Given the description of an element on the screen output the (x, y) to click on. 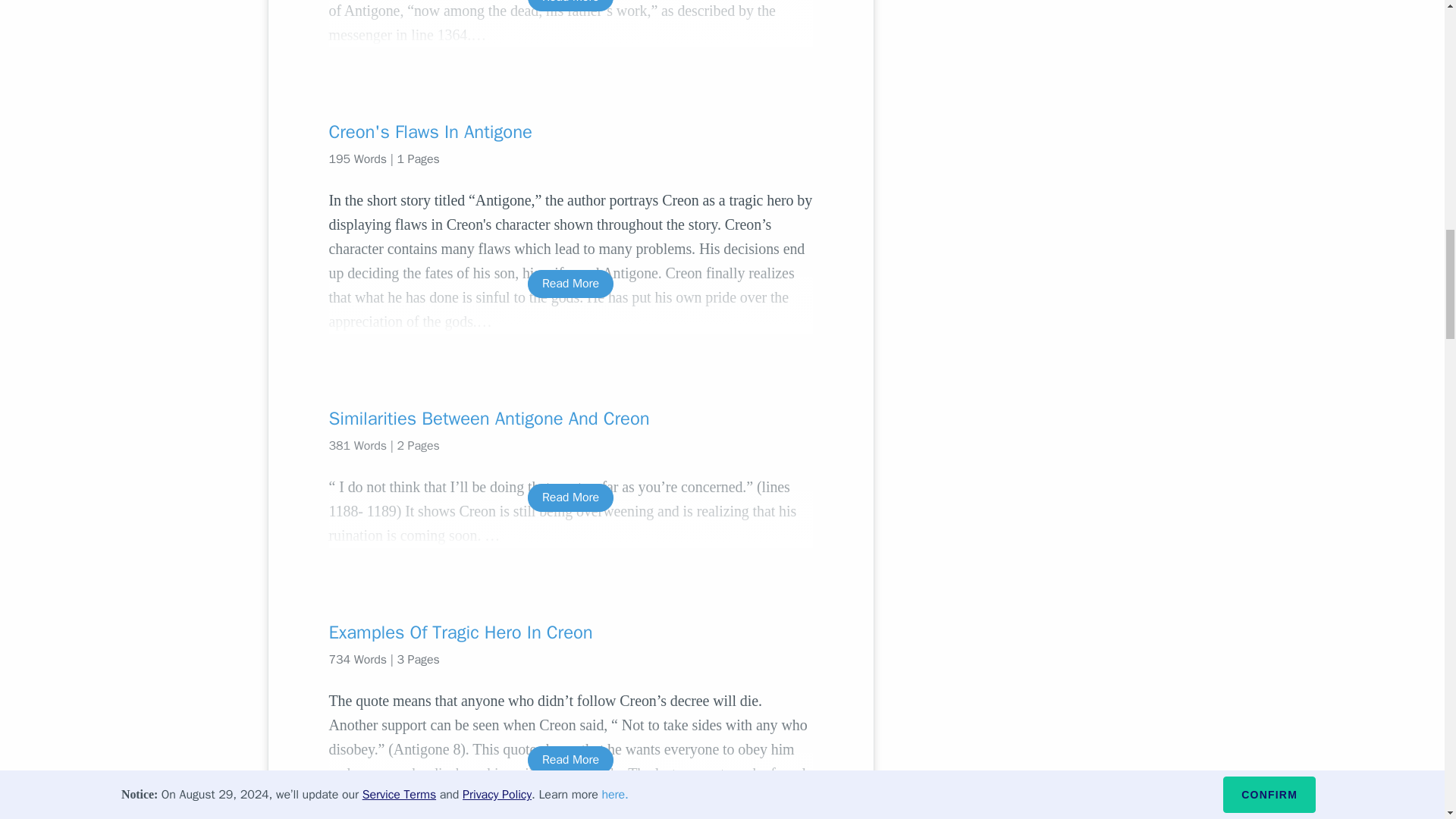
Creon's Flaws In Antigone (570, 131)
Read More (569, 759)
Read More (569, 497)
Similarities Between Antigone And Creon (570, 418)
Read More (569, 5)
Read More (569, 284)
Examples Of Tragic Hero In Creon (570, 631)
